Given the description of an element on the screen output the (x, y) to click on. 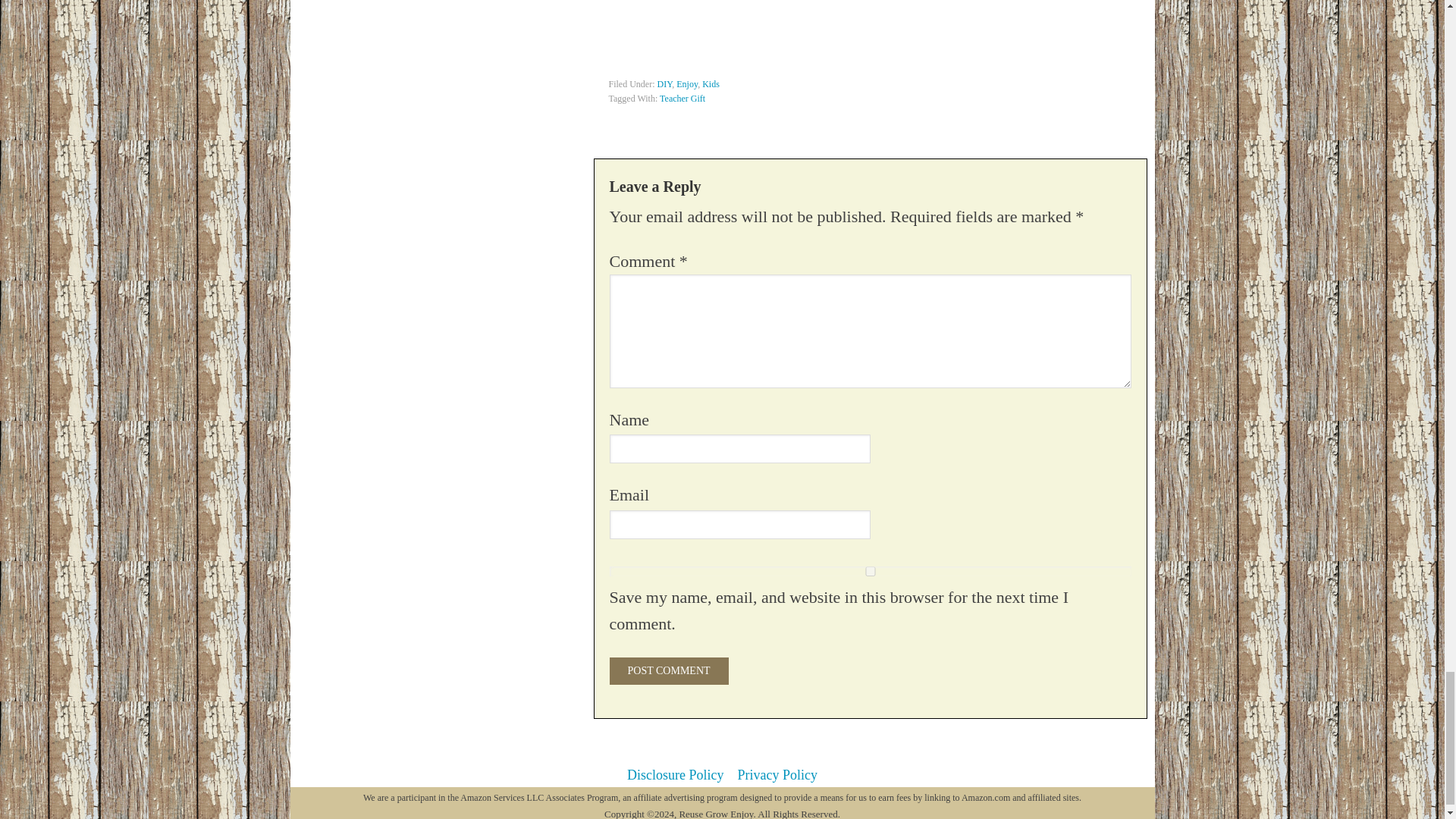
Privacy Policy (776, 774)
Post Comment (669, 670)
yes (870, 571)
Disclosure Policy (675, 774)
